Given the description of an element on the screen output the (x, y) to click on. 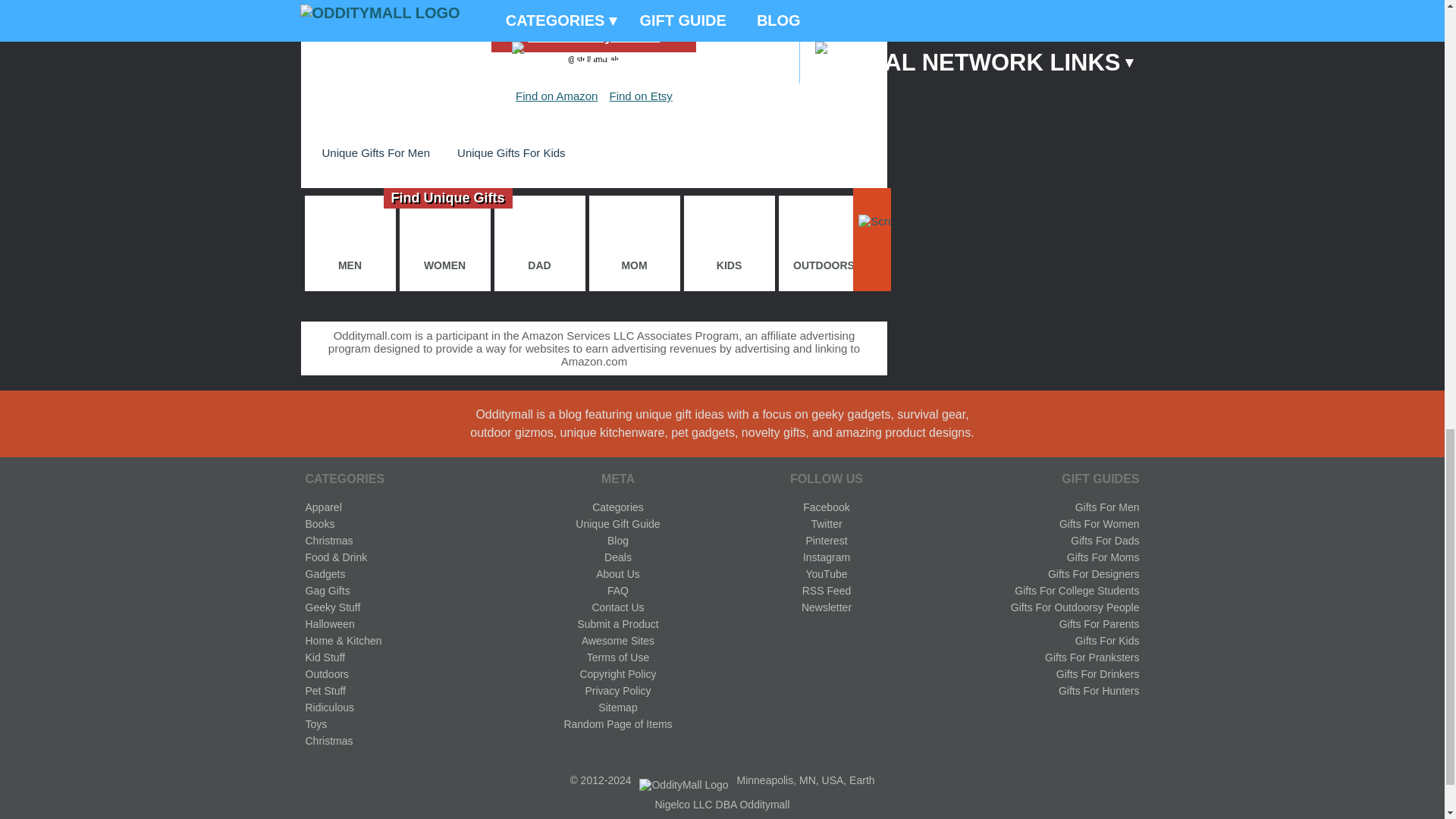
Unique Gifts For Kids (511, 152)
Unique Gifts For Kids (511, 152)
Find on Amazon (555, 95)
Unique Gifts For Men (375, 152)
Check Today's Price (593, 36)
Find on Etsy (639, 95)
Unique Gifts For Men (375, 152)
